Given the description of an element on the screen output the (x, y) to click on. 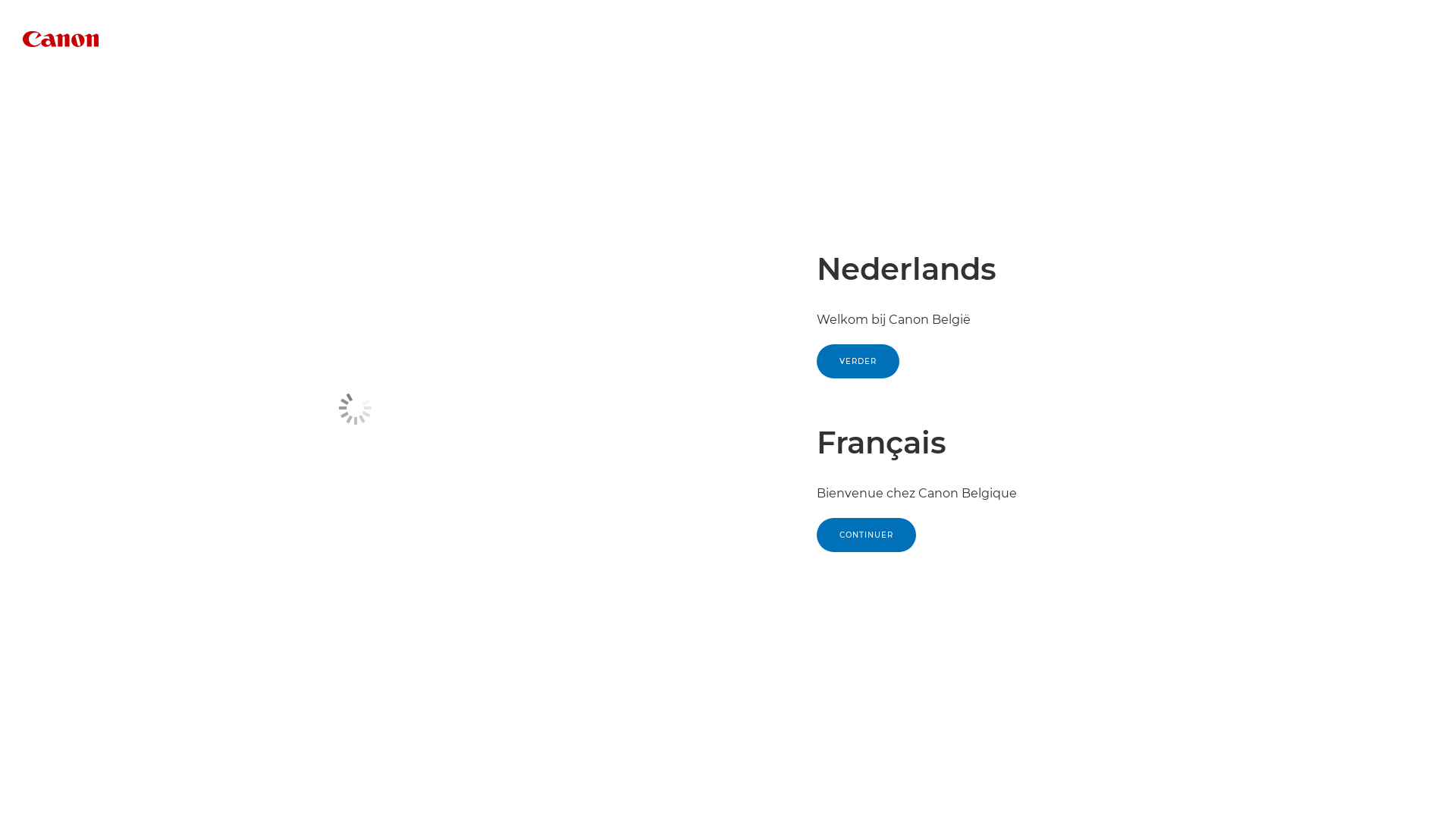
CONTINUER Element type: text (866, 534)
VERDER Element type: text (857, 361)
Canon Logo Element type: text (60, 38)
